Given the description of an element on the screen output the (x, y) to click on. 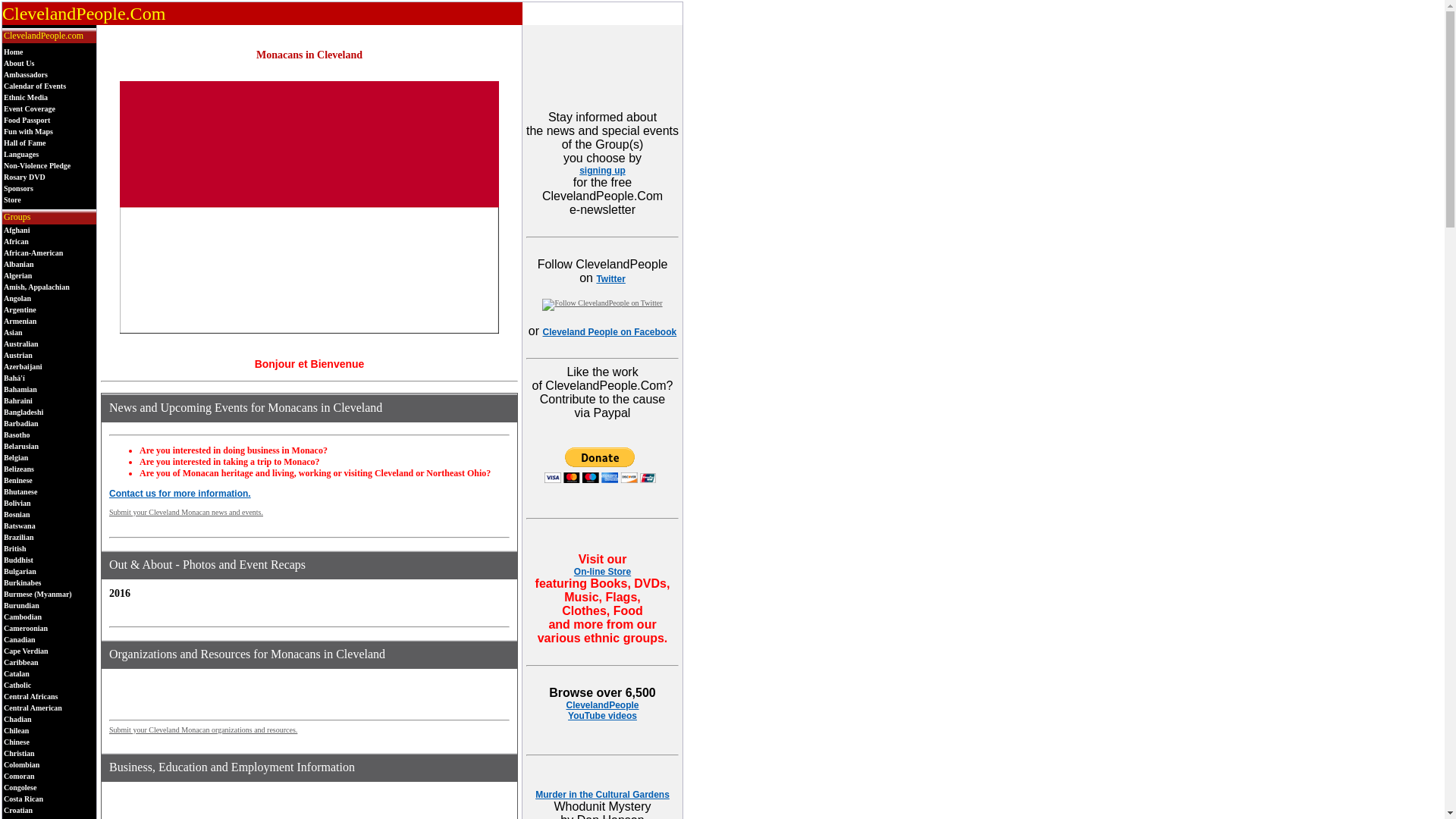
Ambassadors (26, 74)
Bahamian (20, 388)
Hall of Fame (25, 142)
Sponsors (18, 188)
Bolivian (17, 502)
Rosary DVD (24, 176)
Algerian (18, 275)
African (16, 241)
Armenian (20, 320)
African-American (33, 252)
Calendar of Events (34, 85)
Austrian (18, 355)
Argentine (20, 309)
Store (12, 199)
Home (13, 51)
